Given the description of an element on the screen output the (x, y) to click on. 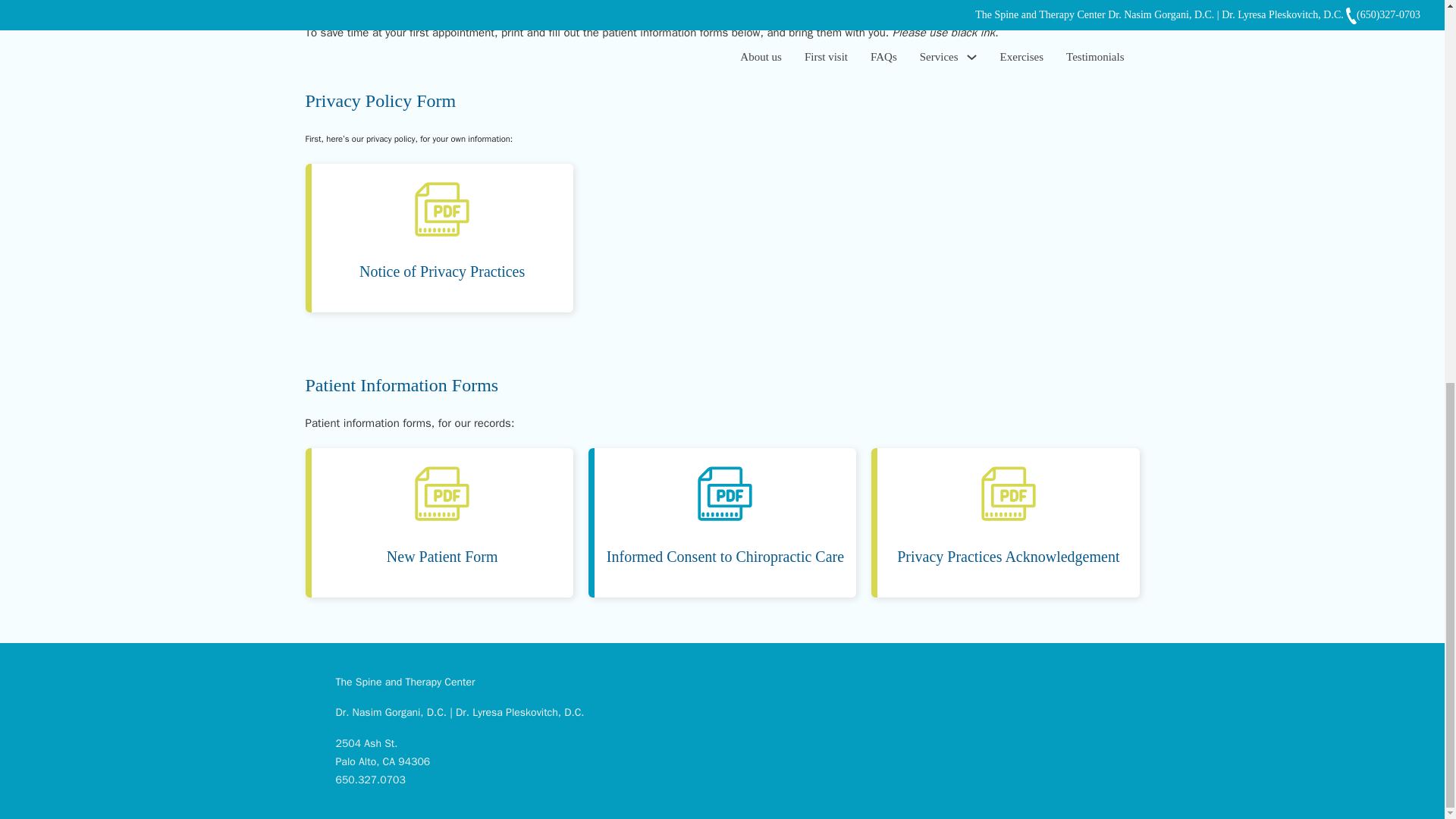
New Patient Form PDF (442, 556)
Privacy Practices Acknowledgement  (1008, 496)
Informed Consent to Chiropractic Care (725, 556)
Notice of Privacy Practices (441, 271)
Informed Consent to Chiropractic (724, 496)
New Patient Form (441, 496)
New Patient Form (442, 556)
Informed Consent to Chiropractic PDF (725, 556)
Privacy Practices Acknowledgement (1007, 556)
Privacy Practices Acknowledgement PDF (1007, 556)
Notice of Privacy Practice (441, 212)
Notice of Privacy Practice  (441, 271)
